Given the description of an element on the screen output the (x, y) to click on. 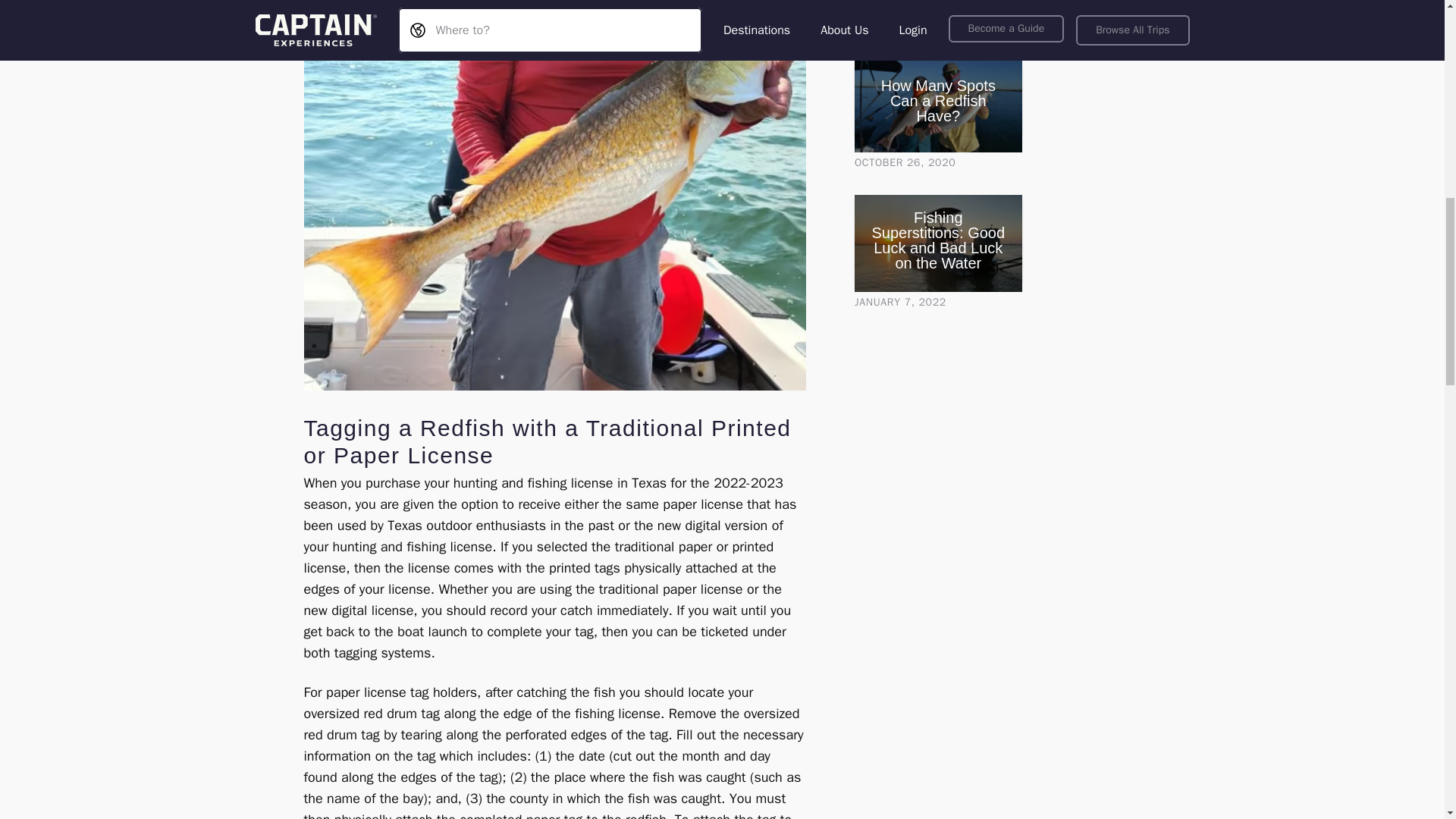
How Many Spots Can a Redfish Have? (938, 100)
Texas Tarpon - A Fishery Fit for Presidents (938, 6)
Fishing Superstitions: Good Luck and Bad Luck on the Water (938, 242)
Fishing Superstitions: Good Luck and Bad Luck on the Water (938, 240)
How Many Spots Can a Redfish Have? (938, 103)
